Given the description of an element on the screen output the (x, y) to click on. 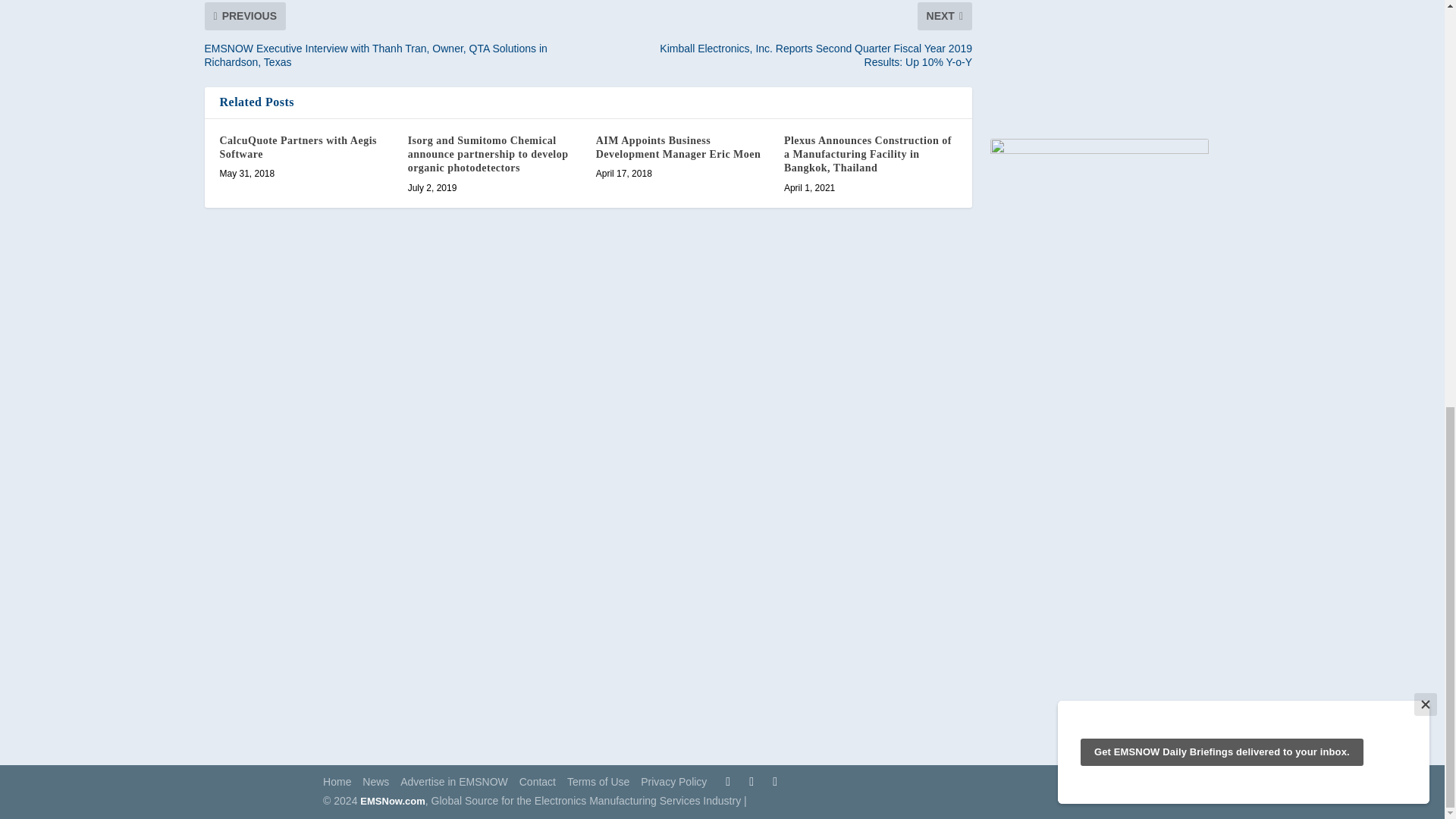
EMSNow.com (392, 800)
